Given the description of an element on the screen output the (x, y) to click on. 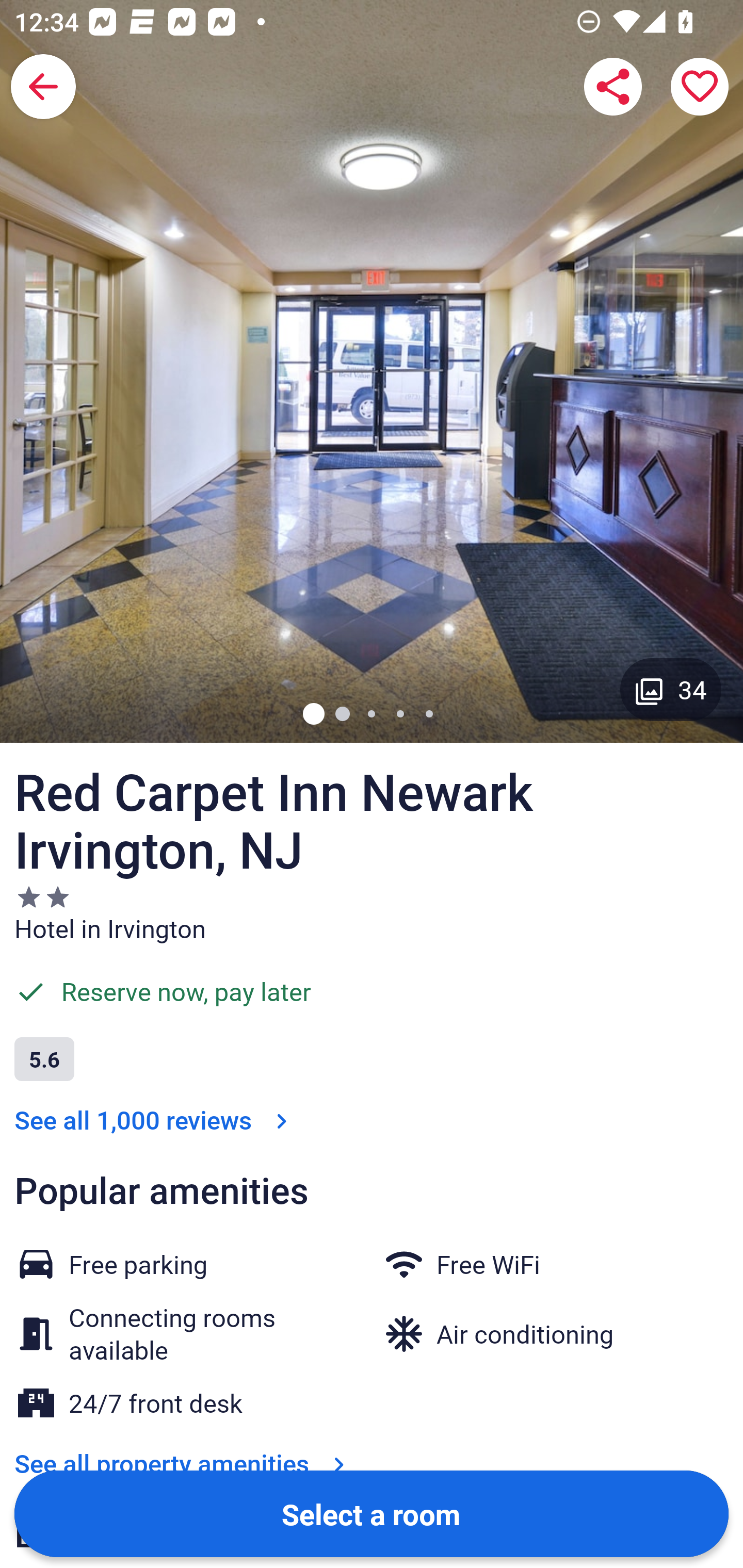
Back (43, 86)
Save property to a trip (699, 86)
Share Red Carpet Inn Newark Irvington, NJ (612, 87)
Gallery button with 34 images (670, 689)
See all 1,000 reviews See all 1,000 reviews Link (154, 1120)
Select a room Button Select a room (371, 1513)
